Given the description of an element on the screen output the (x, y) to click on. 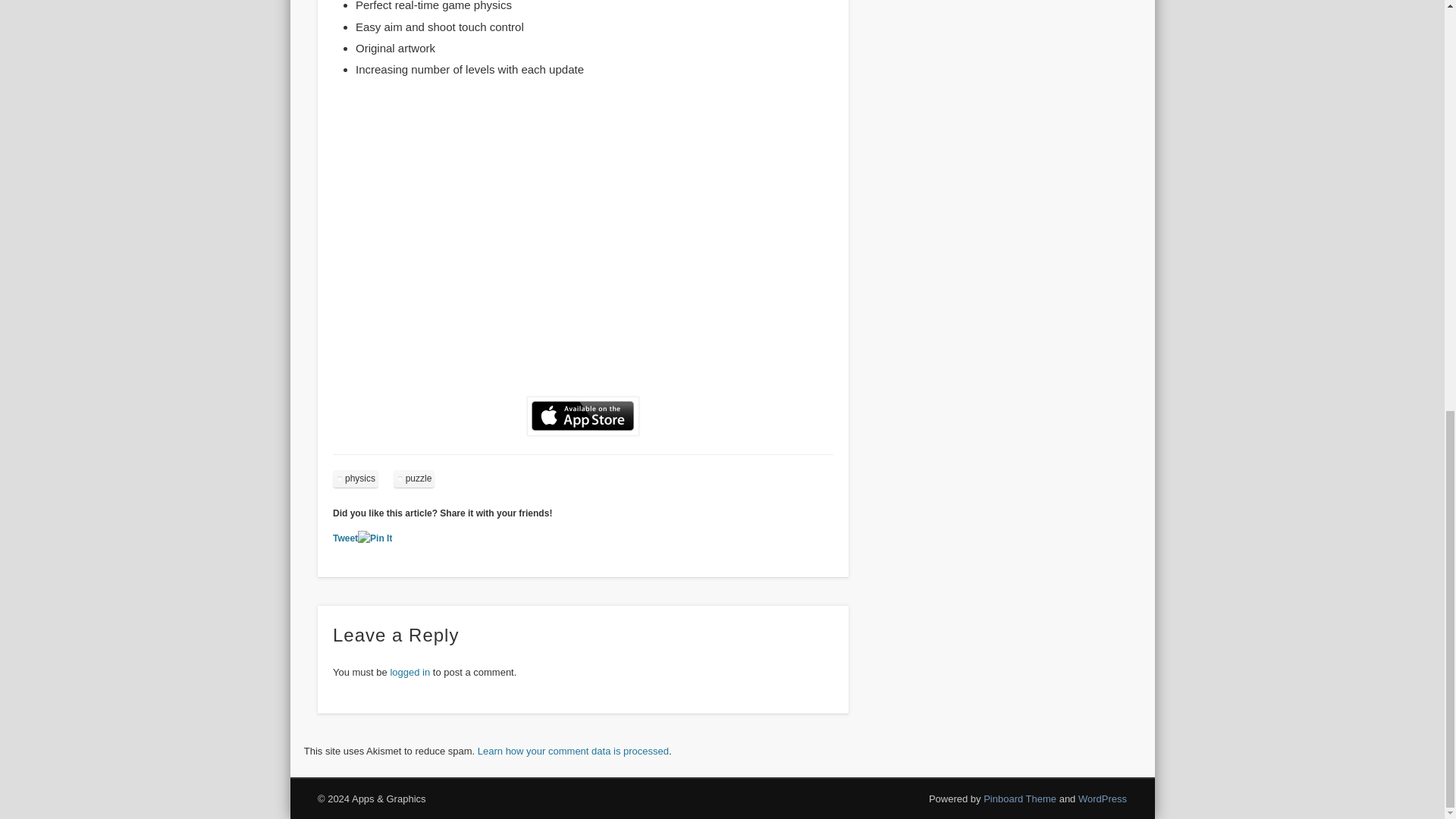
WordPress (1102, 798)
Tweet (345, 538)
Pinboard Theme (1020, 798)
AppStoreBadge (583, 415)
Pinboard Theme (1020, 798)
physics (355, 478)
logged in (409, 672)
Pin It (374, 538)
puzzle (414, 478)
